Given the description of an element on the screen output the (x, y) to click on. 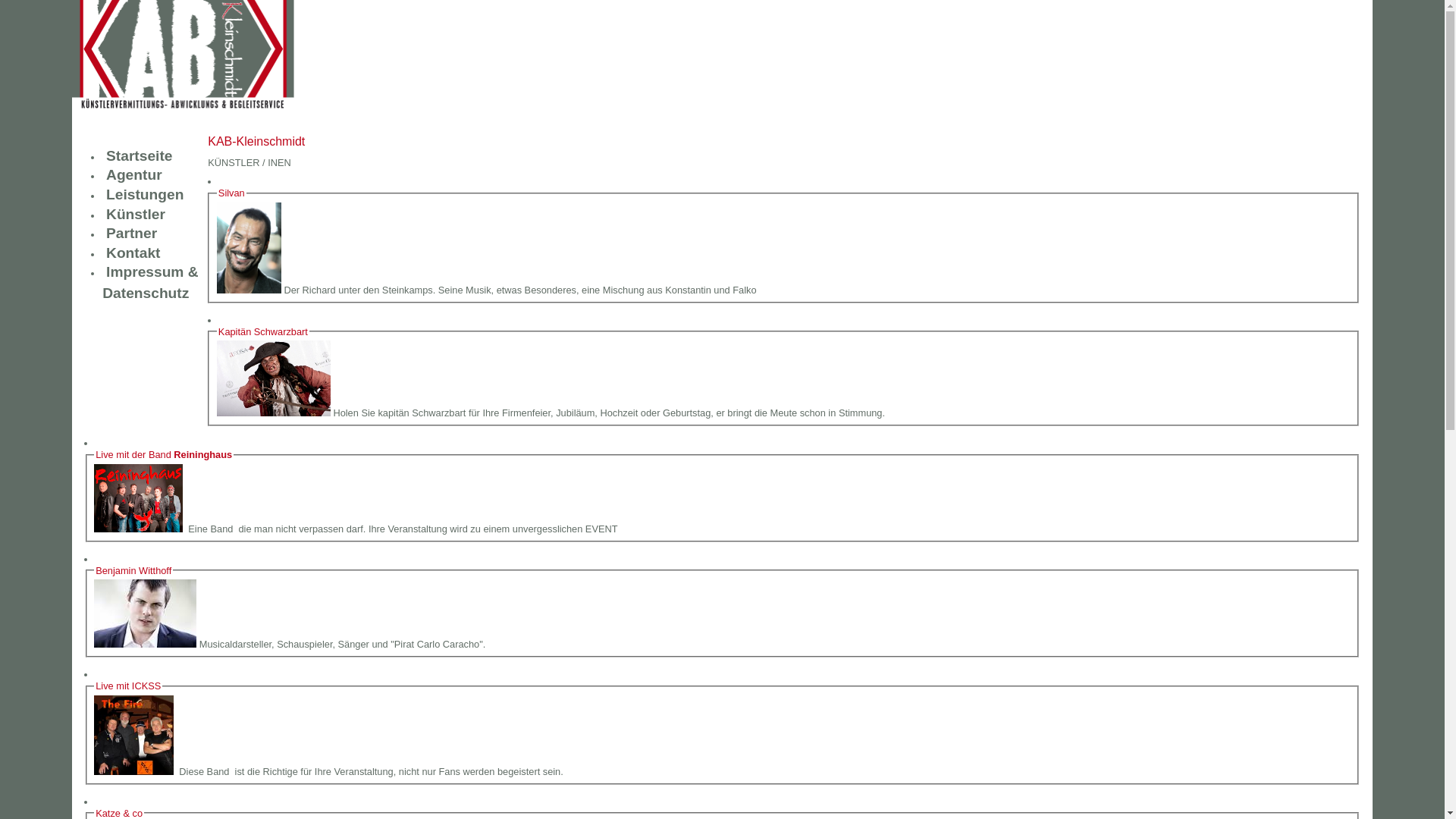
Kontakt Element type: text (133, 252)
Leistungen Element type: text (144, 194)
Impressum & Datenschutz Element type: text (149, 282)
Silvan Element type: text (231, 192)
Agentur Element type: text (134, 174)
Benjamin Witthoff Element type: text (133, 570)
Live mit der Band Reininghaus Element type: text (163, 454)
Live mit ICKSS Element type: text (127, 685)
Startseite Element type: text (139, 155)
Partner Element type: text (131, 233)
